Given the description of an element on the screen output the (x, y) to click on. 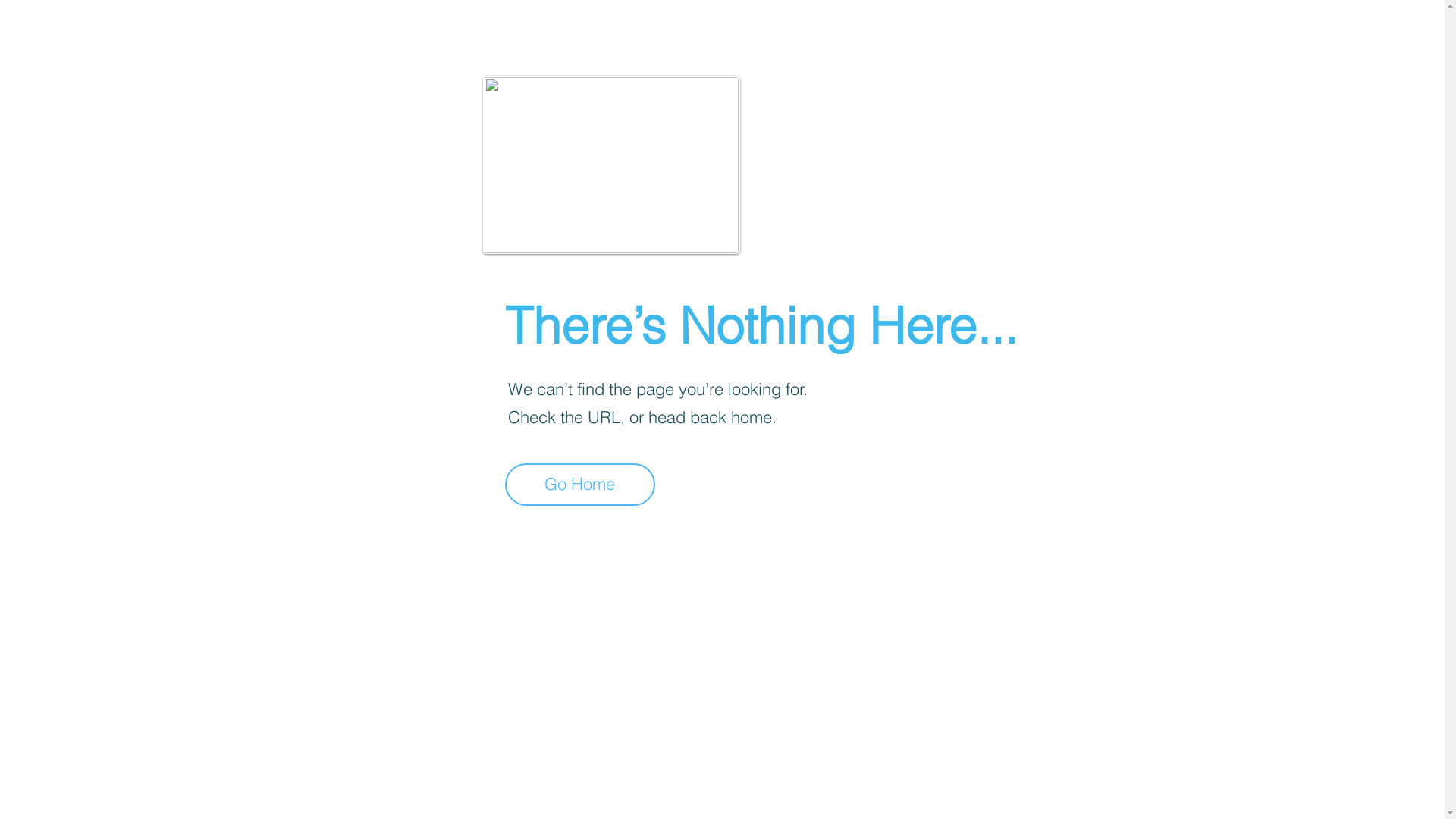
Go Home Element type: text (580, 484)
404-icon_2.png Element type: hover (610, 164)
